Given the description of an element on the screen output the (x, y) to click on. 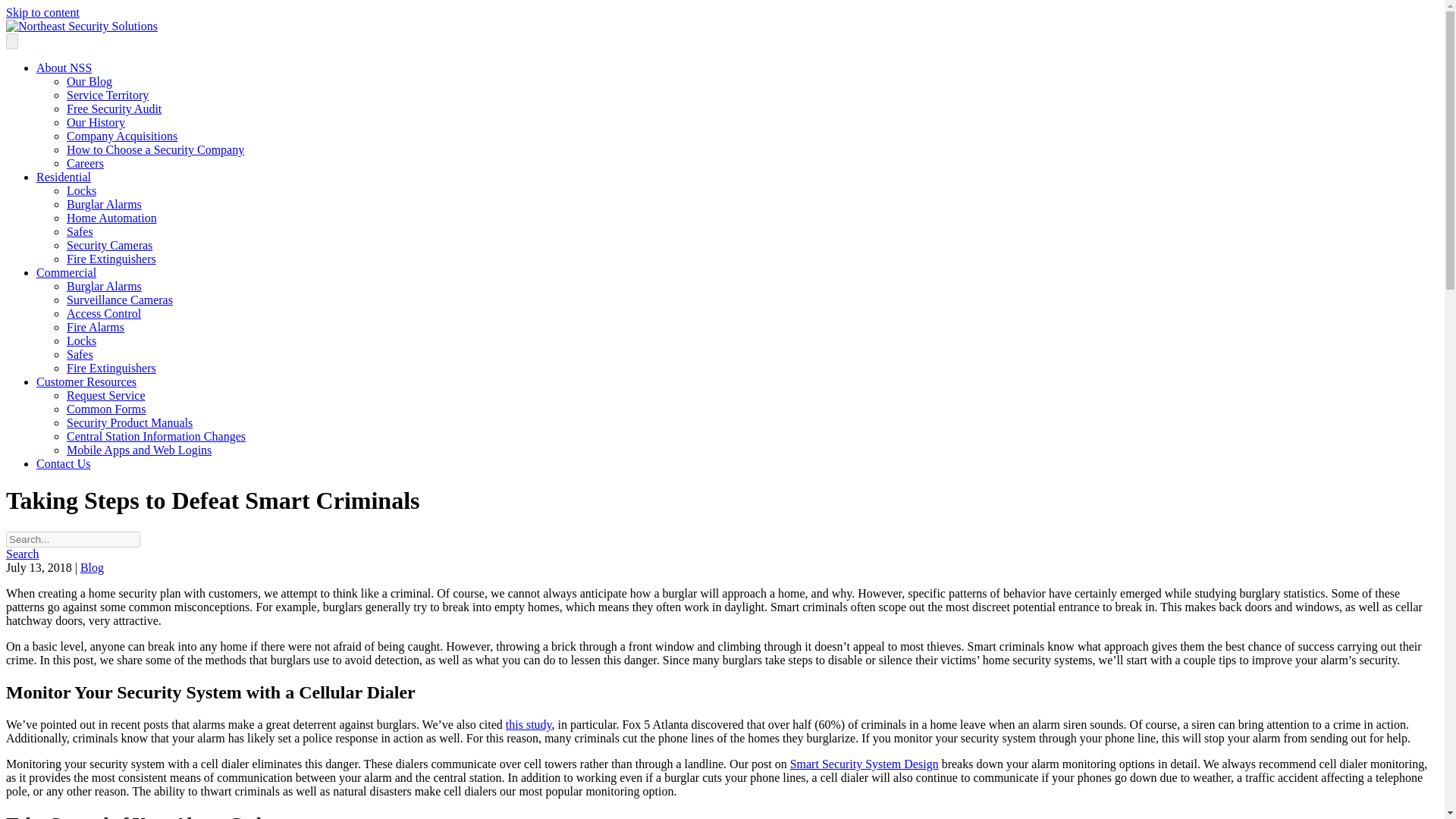
Customer Resources (86, 381)
Northeast Security Solutions (81, 26)
Safes (79, 231)
Our Blog (89, 81)
Security Cameras (109, 245)
Skip to content (42, 11)
Free Security Audit (113, 108)
Company Acquisitions (121, 135)
this study (528, 724)
Common Forms (105, 408)
Burglar Alarms (103, 204)
Service Territory (107, 94)
Locks (81, 340)
Search (22, 553)
Our History (95, 122)
